Given the description of an element on the screen output the (x, y) to click on. 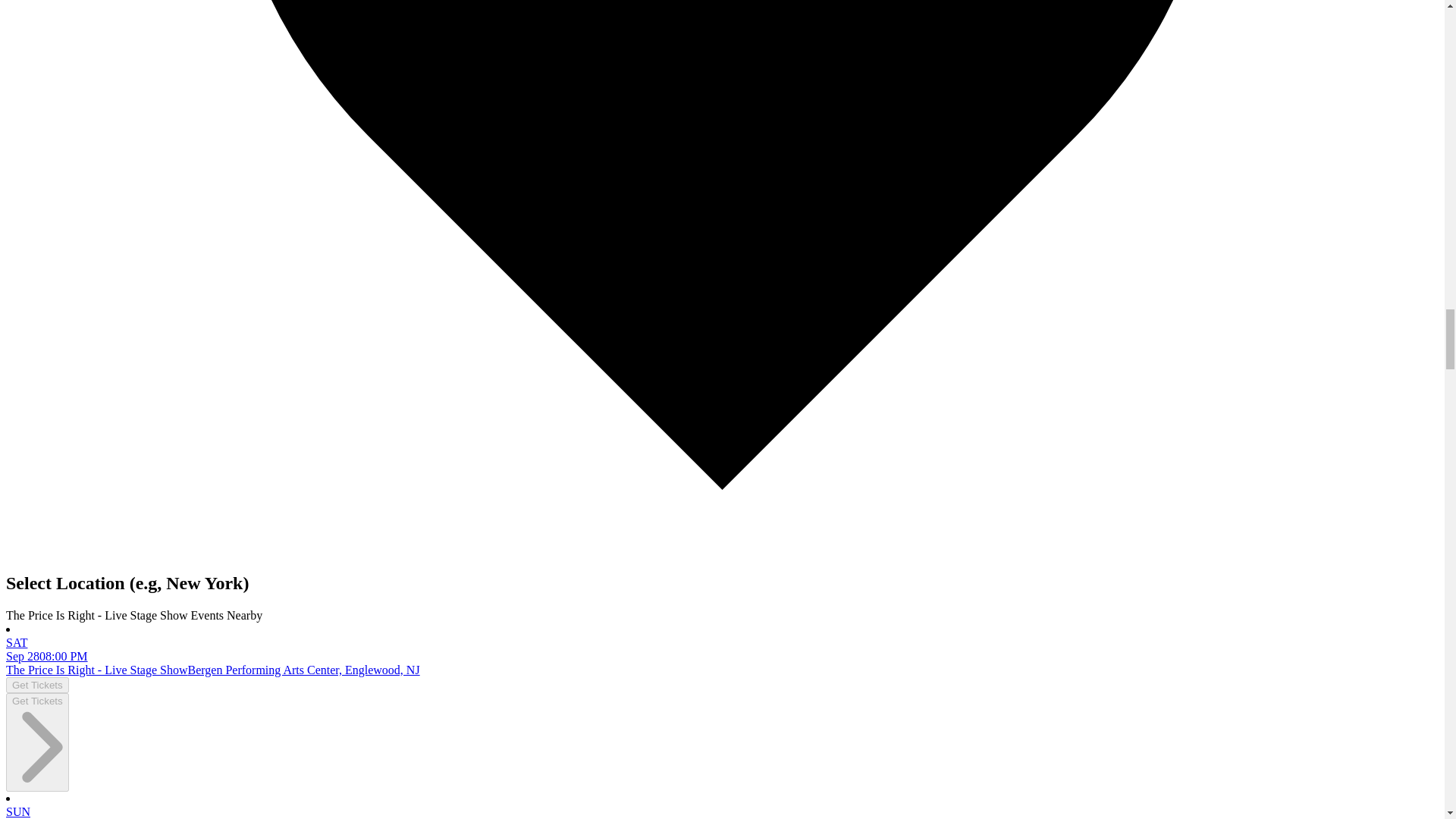
Get Tickets (36, 742)
Get Tickets (36, 684)
